Given the description of an element on the screen output the (x, y) to click on. 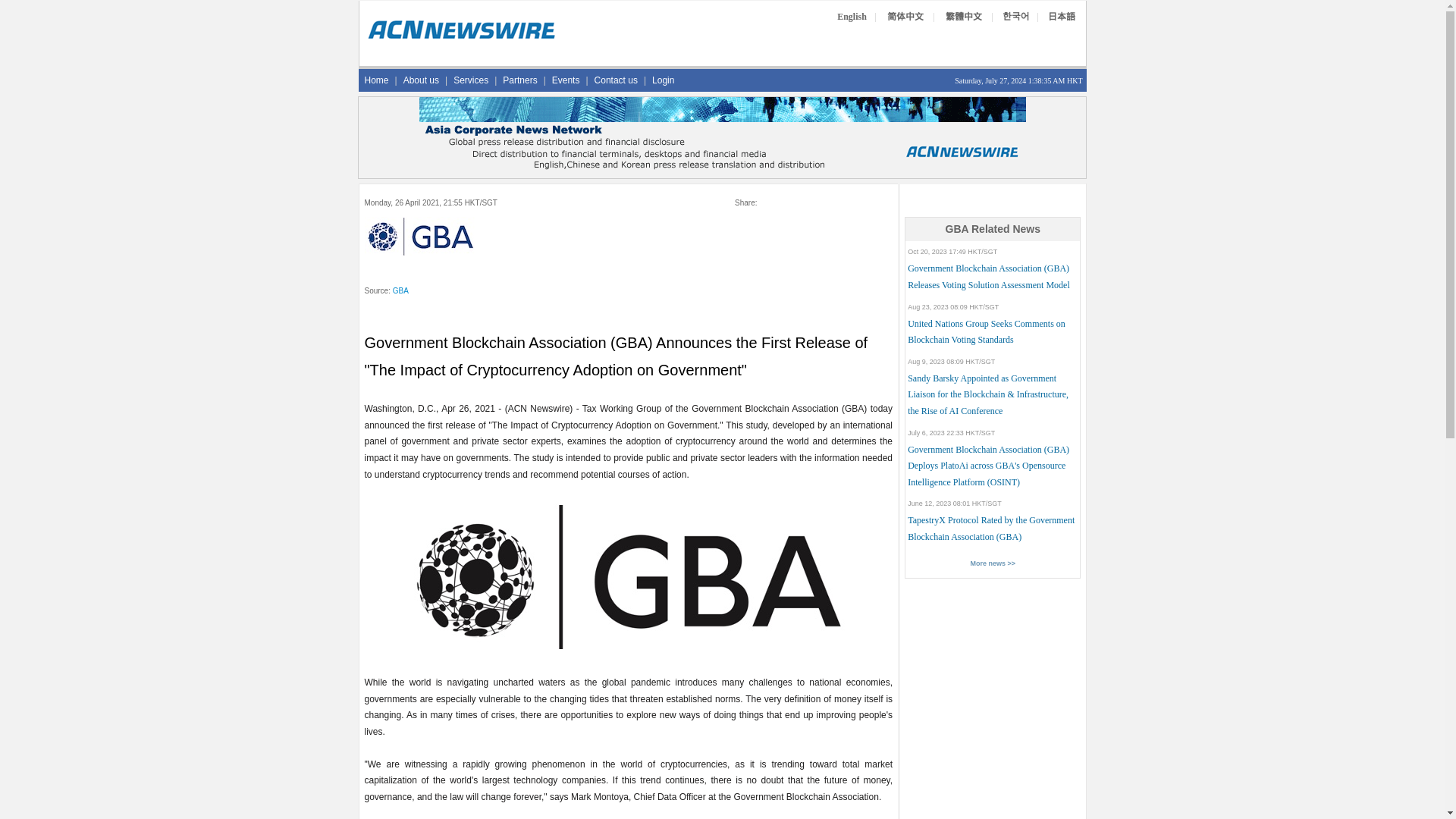
Back to Home Page (461, 37)
Login (662, 79)
Home (376, 79)
Login (662, 79)
Trad. Chinese (962, 16)
Events (566, 79)
About us (421, 79)
Partners (519, 79)
Korean (1016, 16)
Events (566, 79)
About us (421, 79)
Contact us (615, 79)
Japanese (1061, 16)
Partners (519, 79)
English (851, 16)
